Given the description of an element on the screen output the (x, y) to click on. 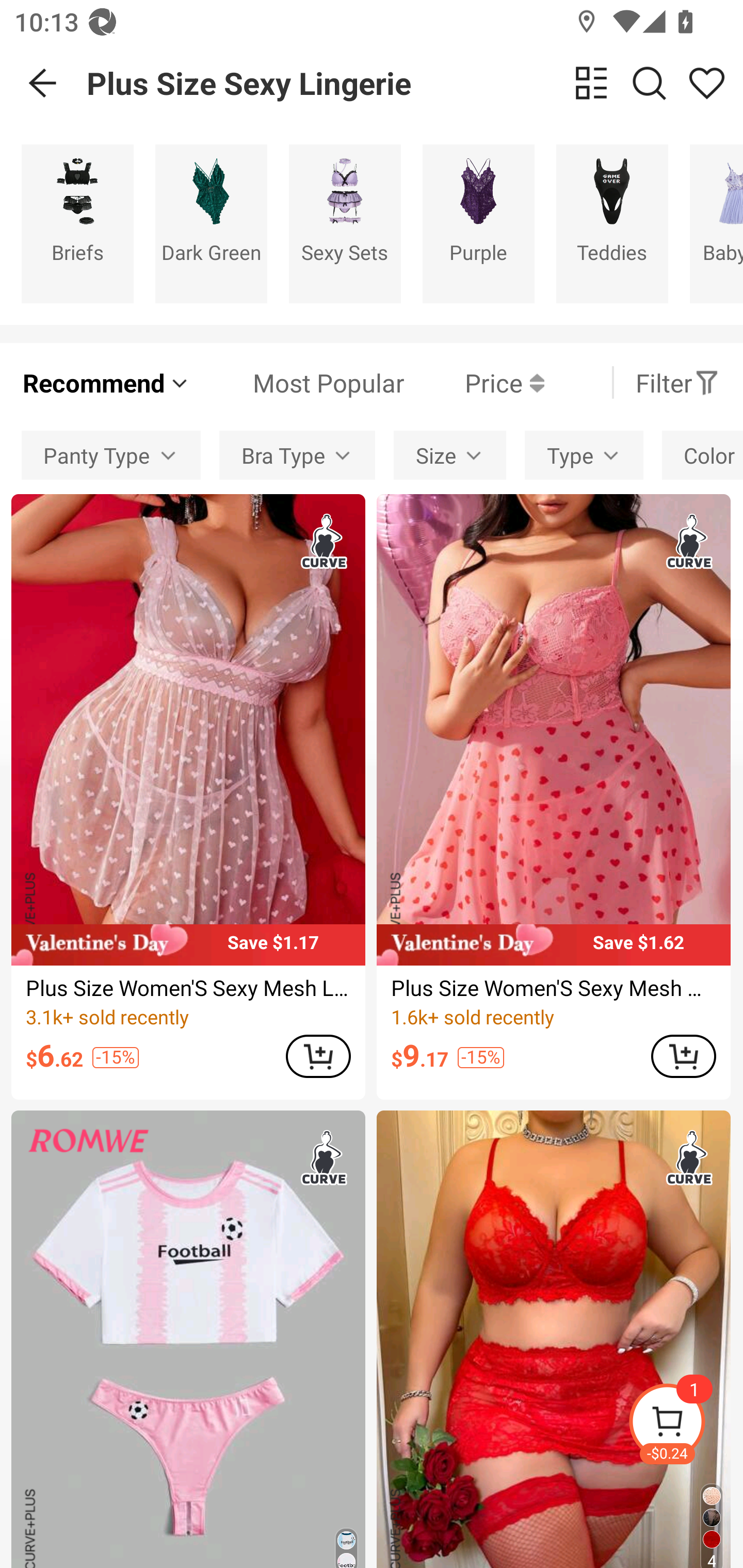
Plus Size Sexy Lingerie change view Search Share (414, 82)
change view (591, 82)
Search (648, 82)
Share (706, 82)
Briefs (77, 223)
Dark Green (211, 223)
Sexy Sets (345, 223)
Purple (478, 223)
Teddies (611, 223)
Recommend (106, 382)
Most Popular (297, 382)
Price (474, 382)
Filter (677, 382)
Panty Type (110, 455)
Bra Type (297, 455)
Size (449, 455)
Type (583, 455)
Color (702, 455)
ADD TO CART (318, 1056)
ADD TO CART (683, 1056)
SHEIN Plus Size Women's Sexy Lace Lingerie 4 (553, 1339)
-$0.24 (685, 1424)
